Given the description of an element on the screen output the (x, y) to click on. 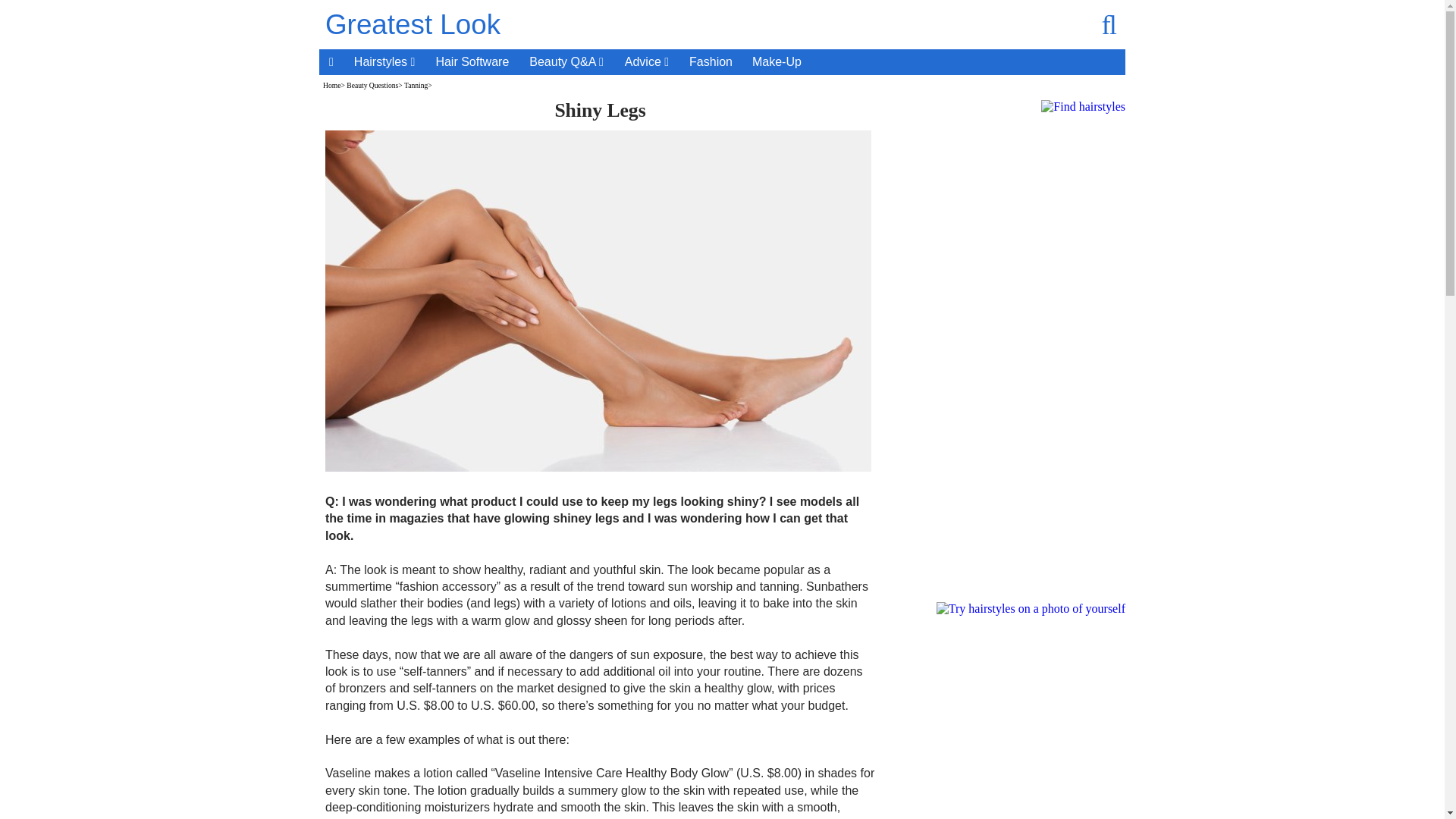
Hairstyles (384, 62)
Make-Up (776, 62)
Advice (646, 62)
Greatest Look (412, 24)
Fashion (710, 62)
Hair Software (471, 62)
